Given the description of an element on the screen output the (x, y) to click on. 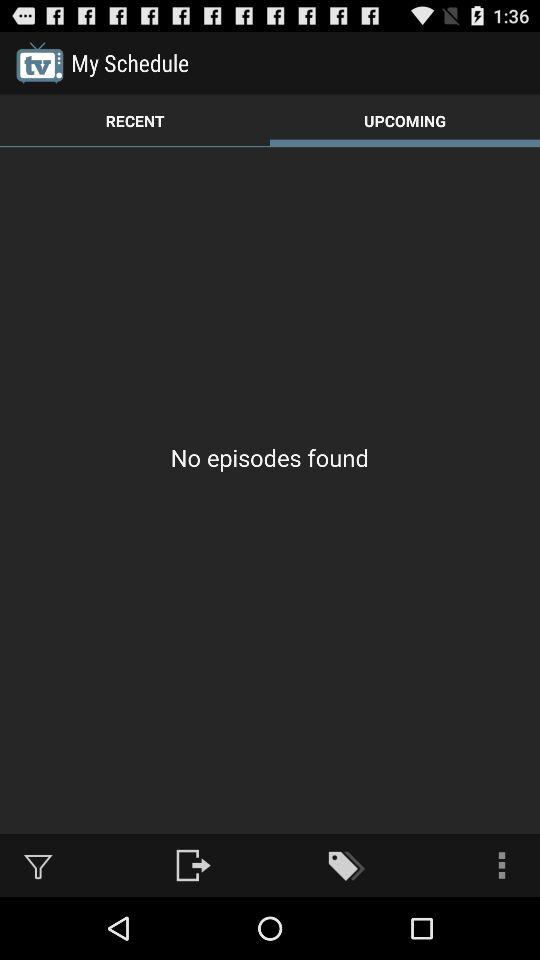
press the item to the right of the recent (405, 120)
